Given the description of an element on the screen output the (x, y) to click on. 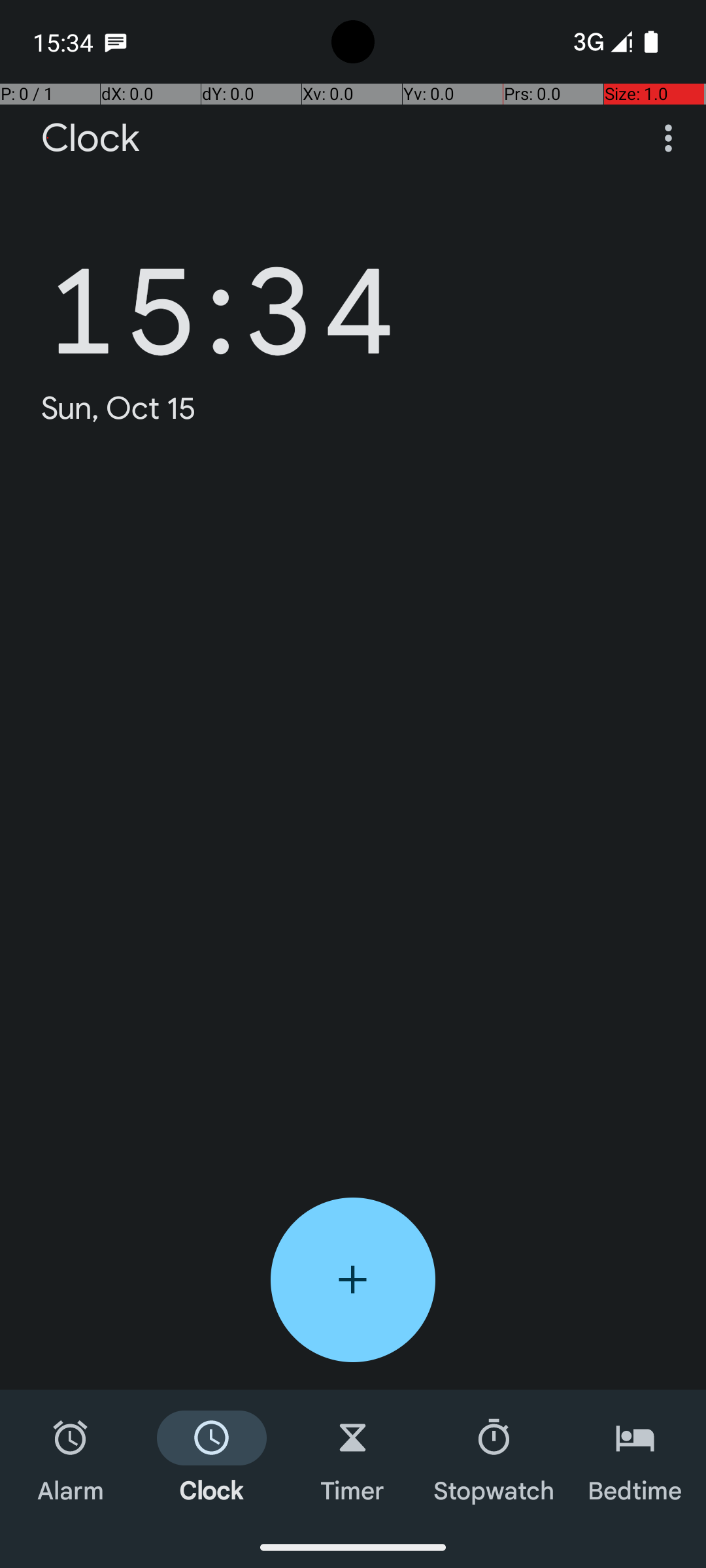
Add city Element type: android.widget.Button (352, 1279)
